Given the description of an element on the screen output the (x, y) to click on. 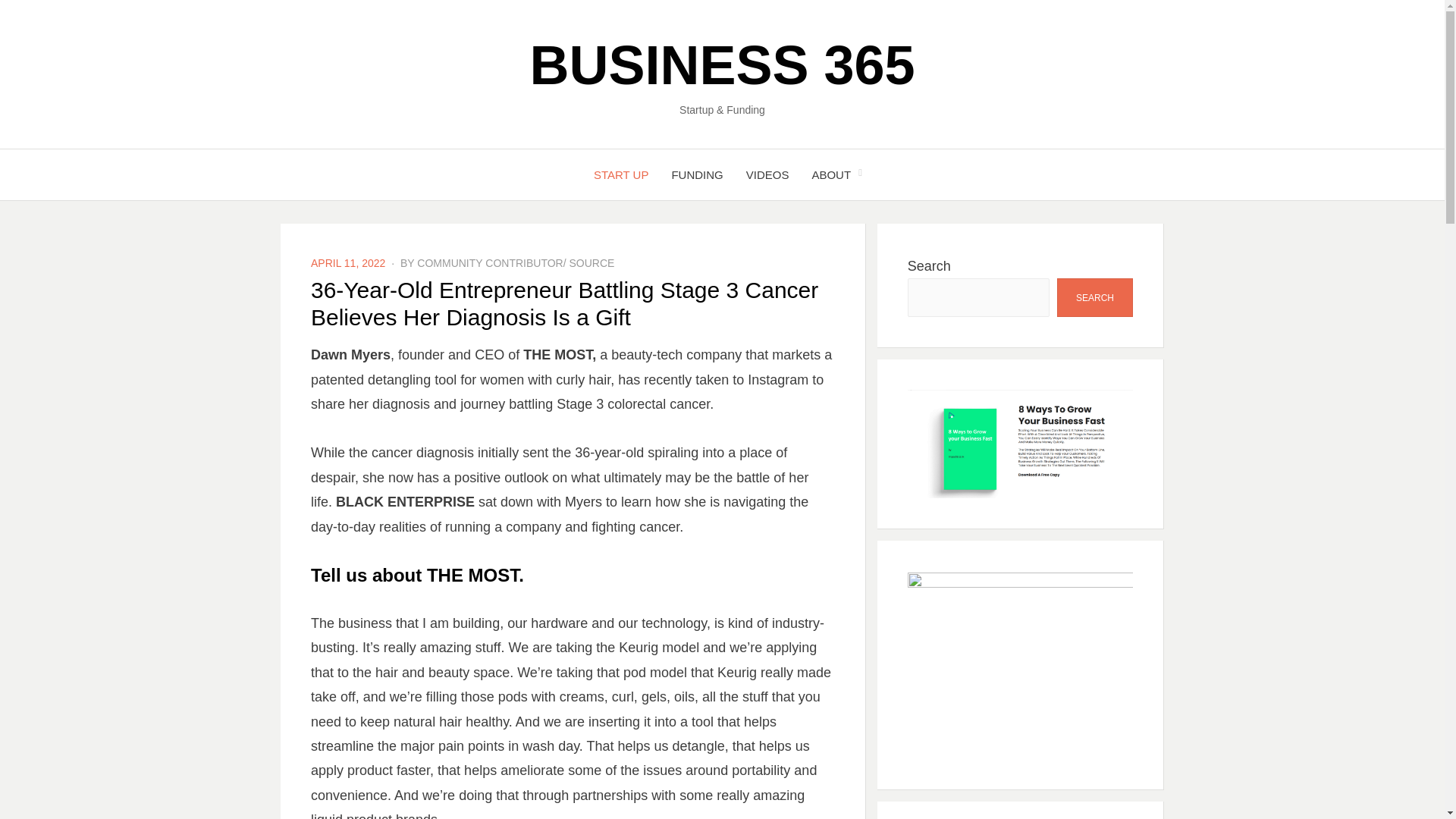
BUSINESS 365 (721, 65)
Business 365 (721, 65)
SEARCH (1094, 297)
FUNDING (696, 174)
VIDEOS (767, 174)
START UP (621, 174)
APRIL 11, 2022 (348, 263)
ABOUT (830, 174)
